Given the description of an element on the screen output the (x, y) to click on. 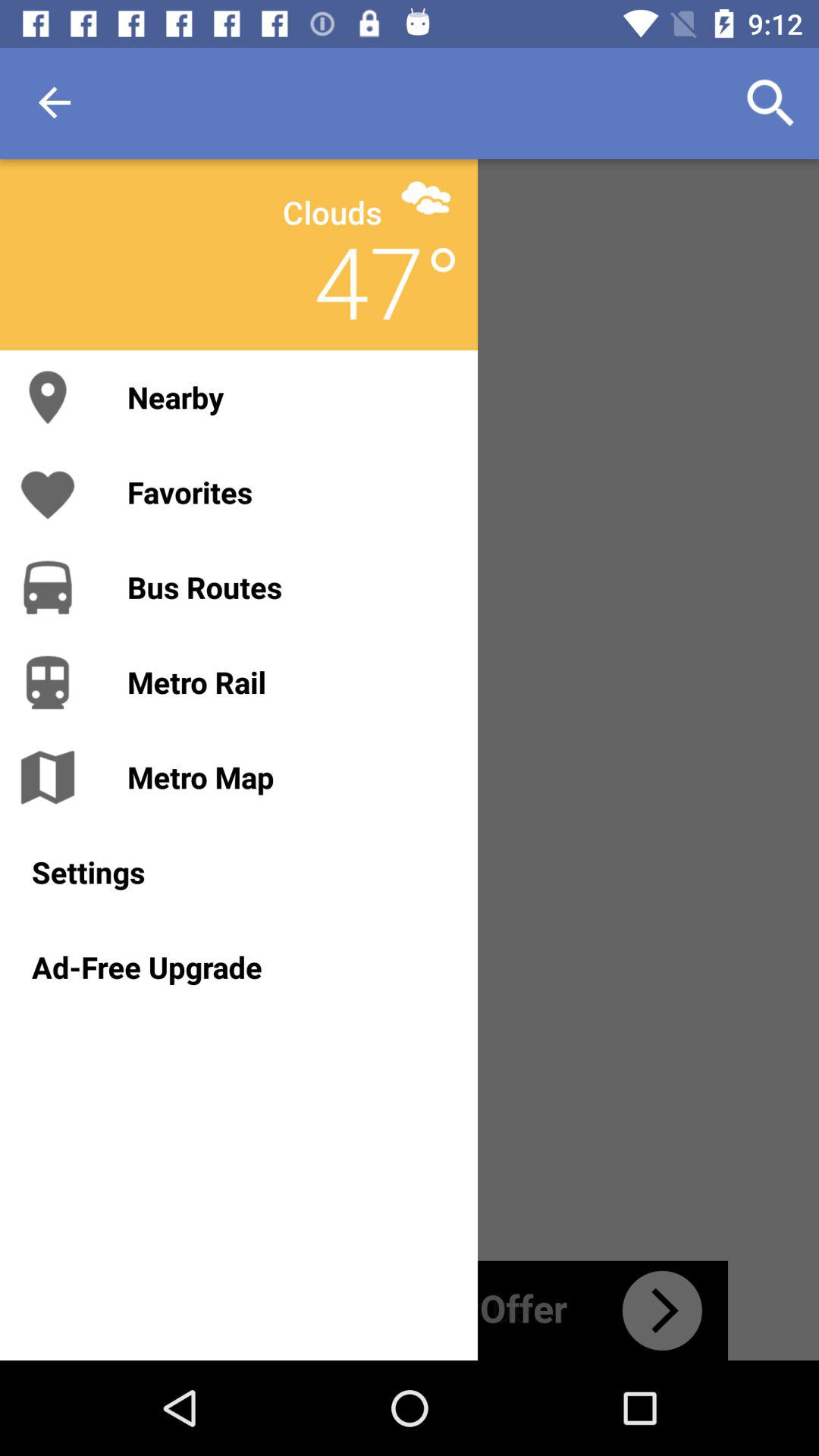
swipe to the settings icon (238, 871)
